Given the description of an element on the screen output the (x, y) to click on. 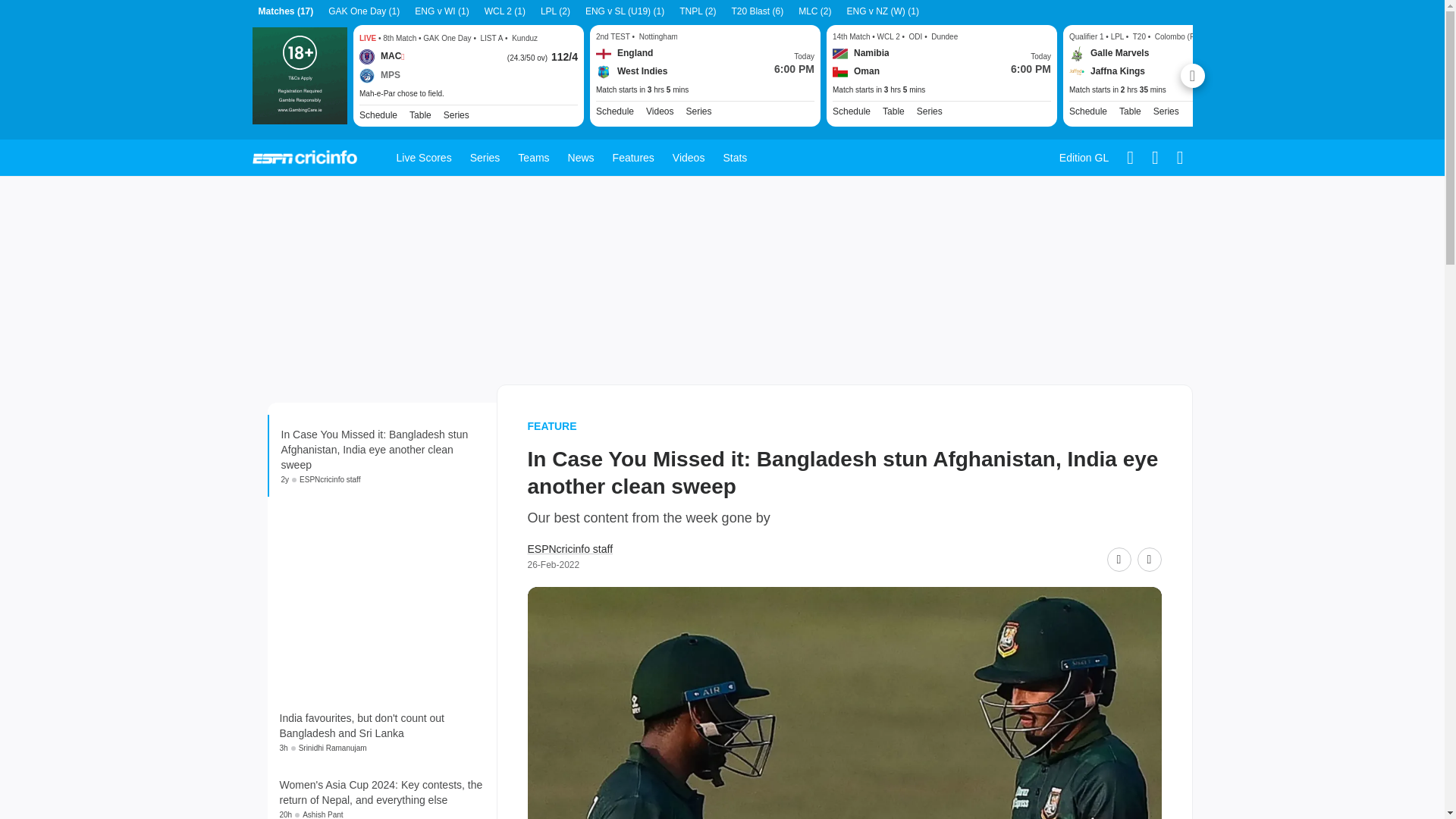
Oman (855, 71)
ENG vs WI - 2nd Test (704, 90)
Schedule (614, 110)
Galle Marvels (1108, 53)
Namibia (860, 53)
Ghazi Amanullah Khan Regional One Day Tournament (455, 114)
Videos (659, 110)
Table (893, 110)
Schedule (1087, 110)
West Indies (630, 71)
MAC vs MPS - 8th Match (468, 93)
Schedule (378, 114)
West Indies tour of England (698, 110)
Schedule (614, 110)
Videos (659, 110)
